Given the description of an element on the screen output the (x, y) to click on. 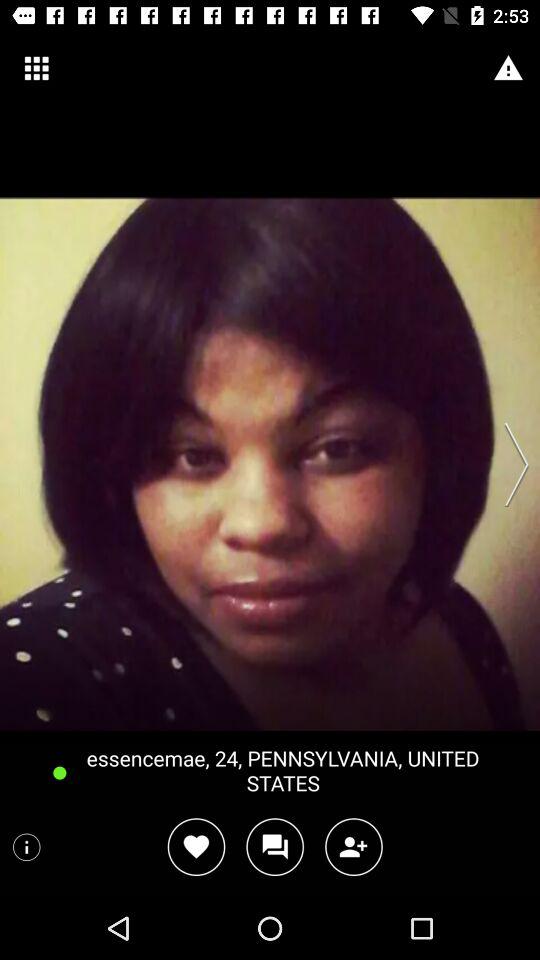
launch the item on the right (510, 464)
